Given the description of an element on the screen output the (x, y) to click on. 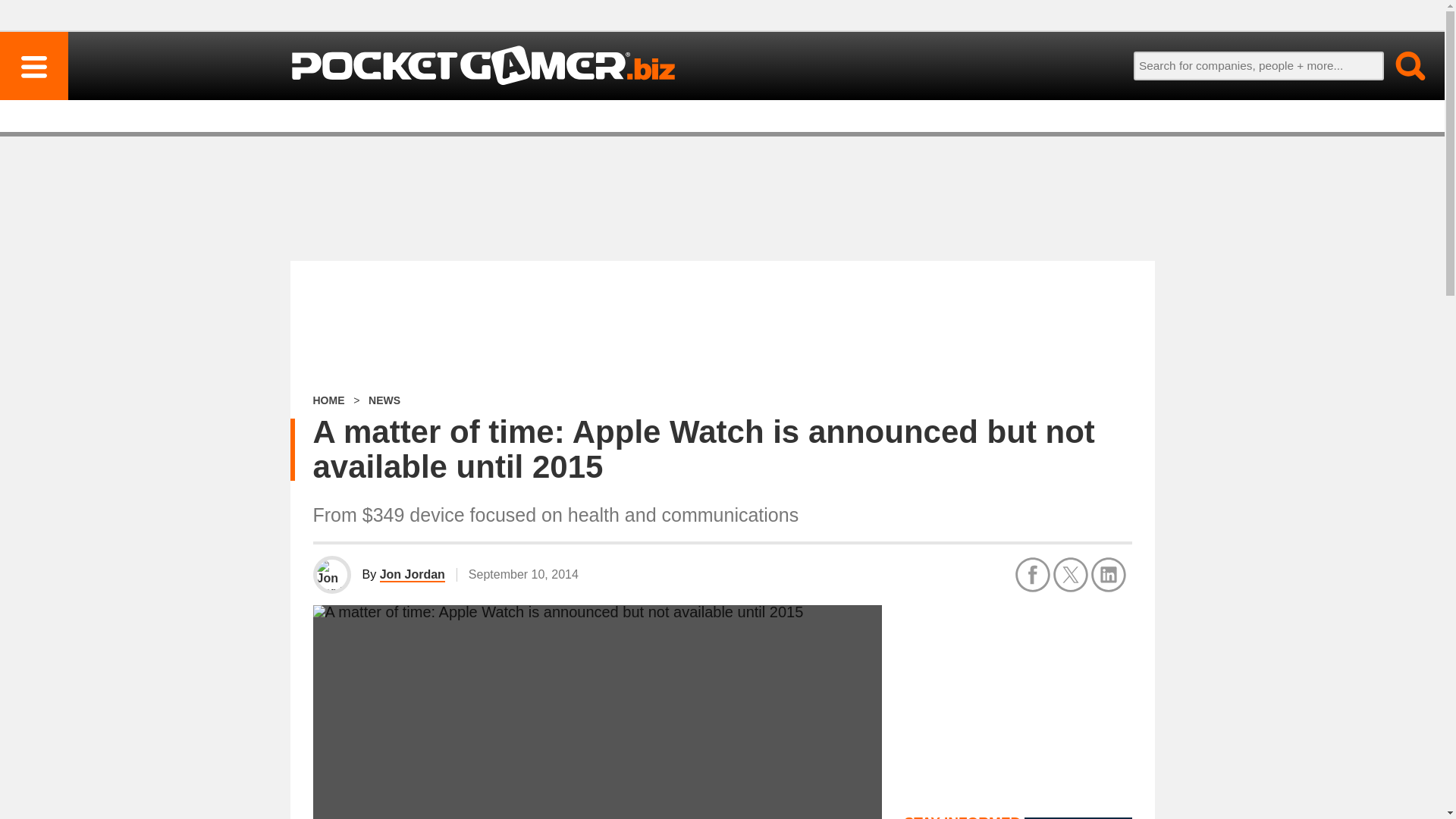
Go (1402, 65)
HOME (328, 400)
Go (1402, 65)
NEWS (384, 400)
Jon Jordan (412, 575)
